Given the description of an element on the screen output the (x, y) to click on. 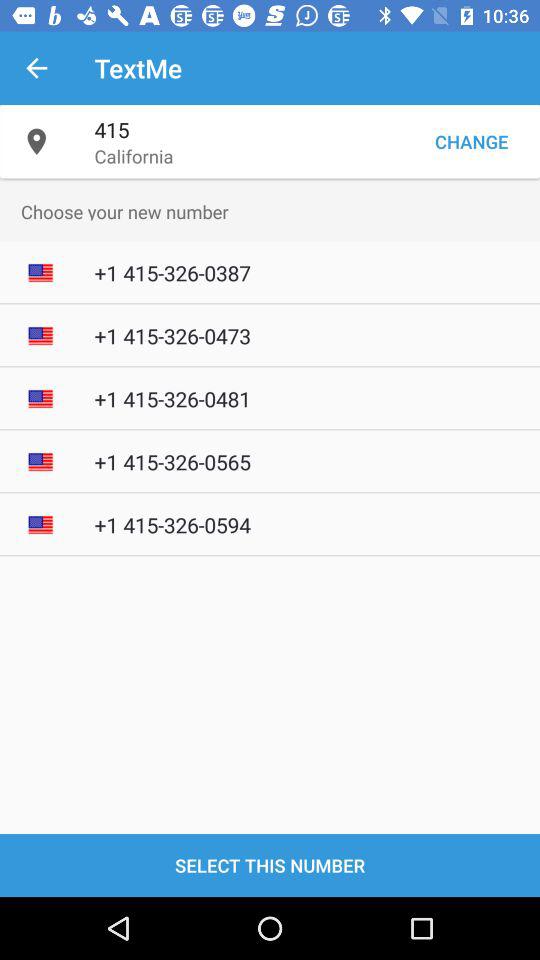
open the item next to textme item (36, 68)
